Given the description of an element on the screen output the (x, y) to click on. 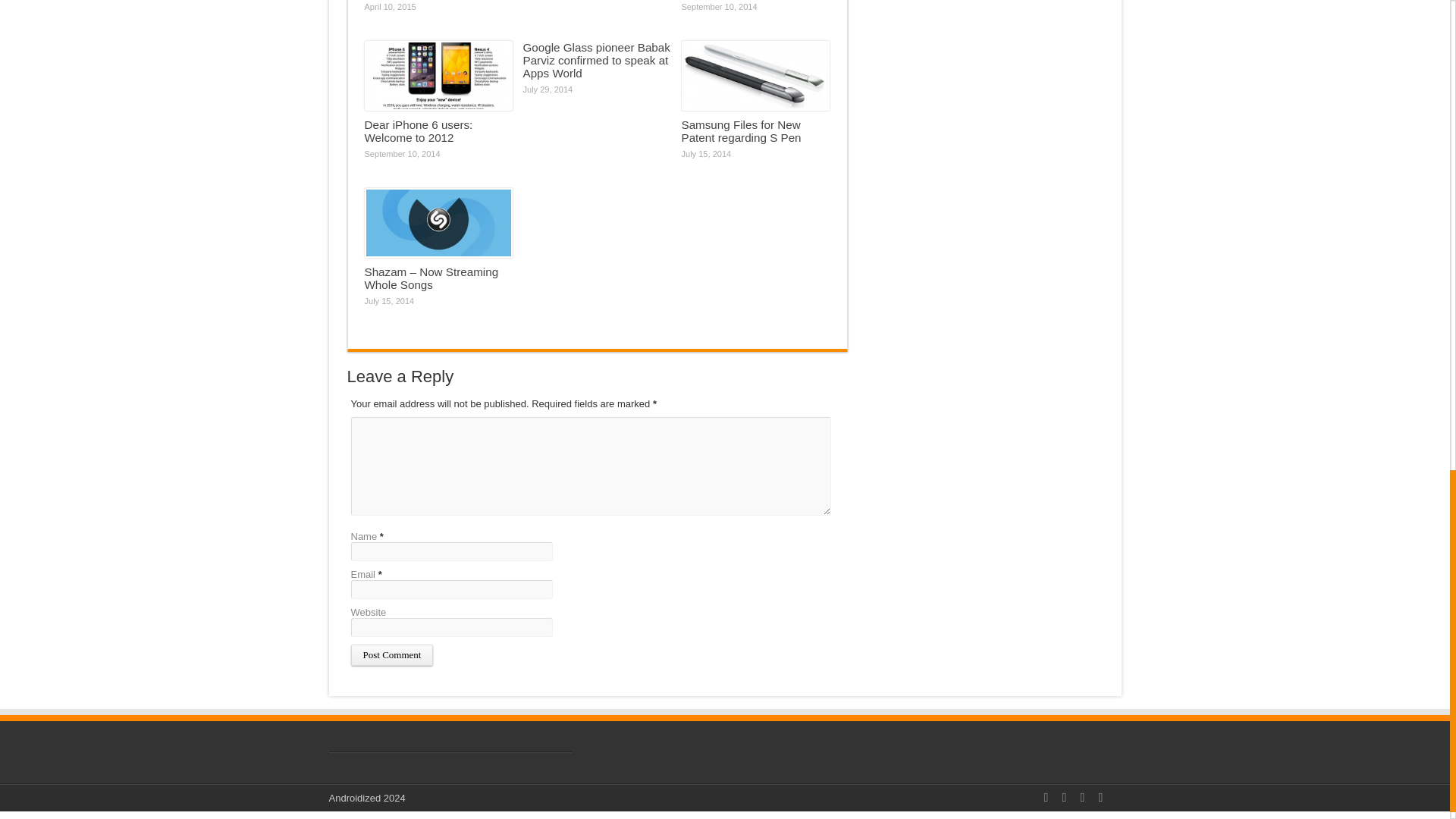
Dear iPhone 6 users: Welcome to 2012 (417, 130)
Post Comment (391, 654)
Samsung Files for New Patent regarding S Pen (740, 130)
